Given the description of an element on the screen output the (x, y) to click on. 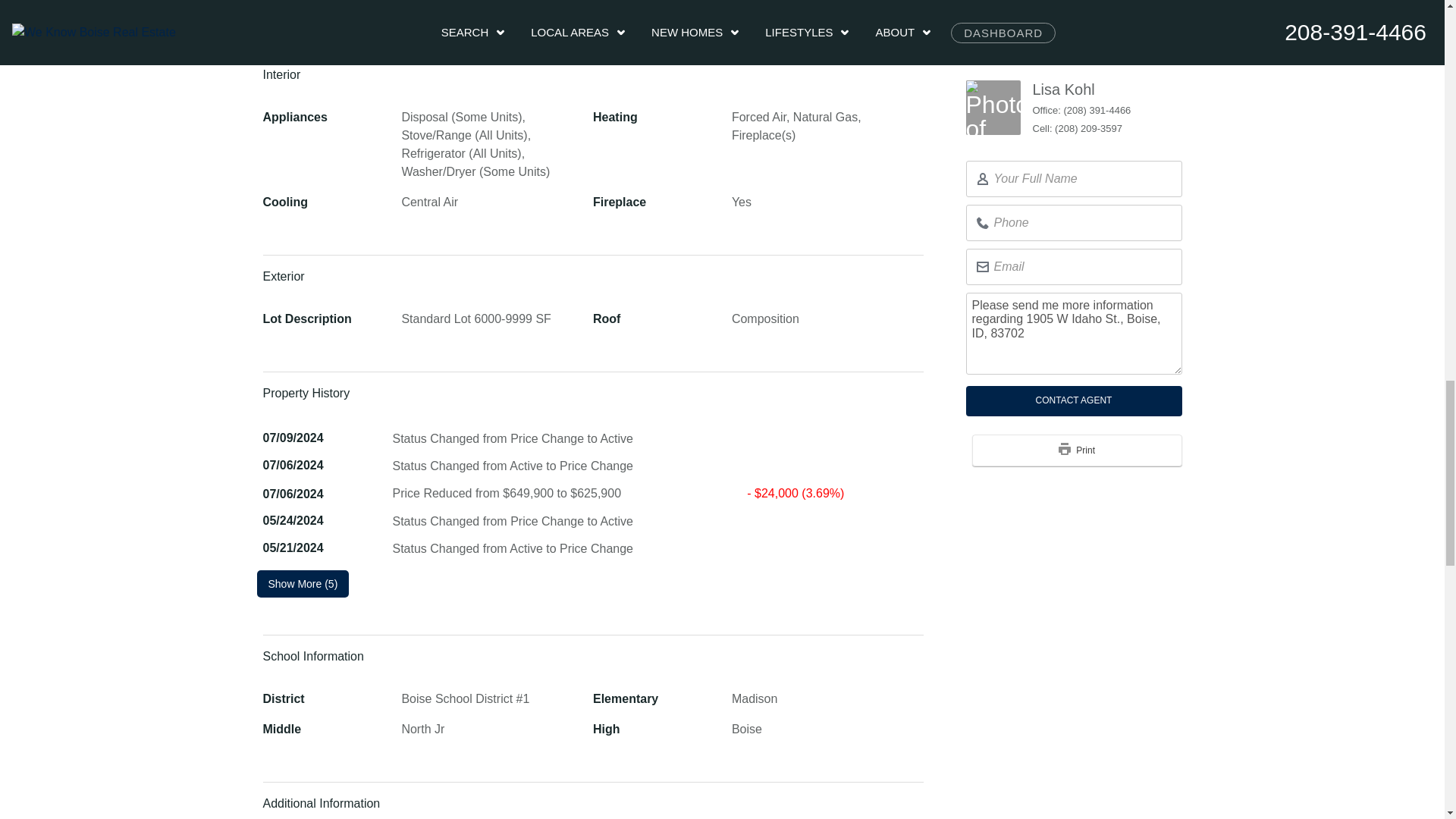
Sat. Jul. 6th, 2024 (292, 493)
Tue. Jul. 9th, 2024 (292, 437)
Sat. Jul. 6th, 2024 (292, 464)
Tue. May. 21st, 2024 (292, 547)
Fri. May. 24th, 2024 (292, 520)
